Given the description of an element on the screen output the (x, y) to click on. 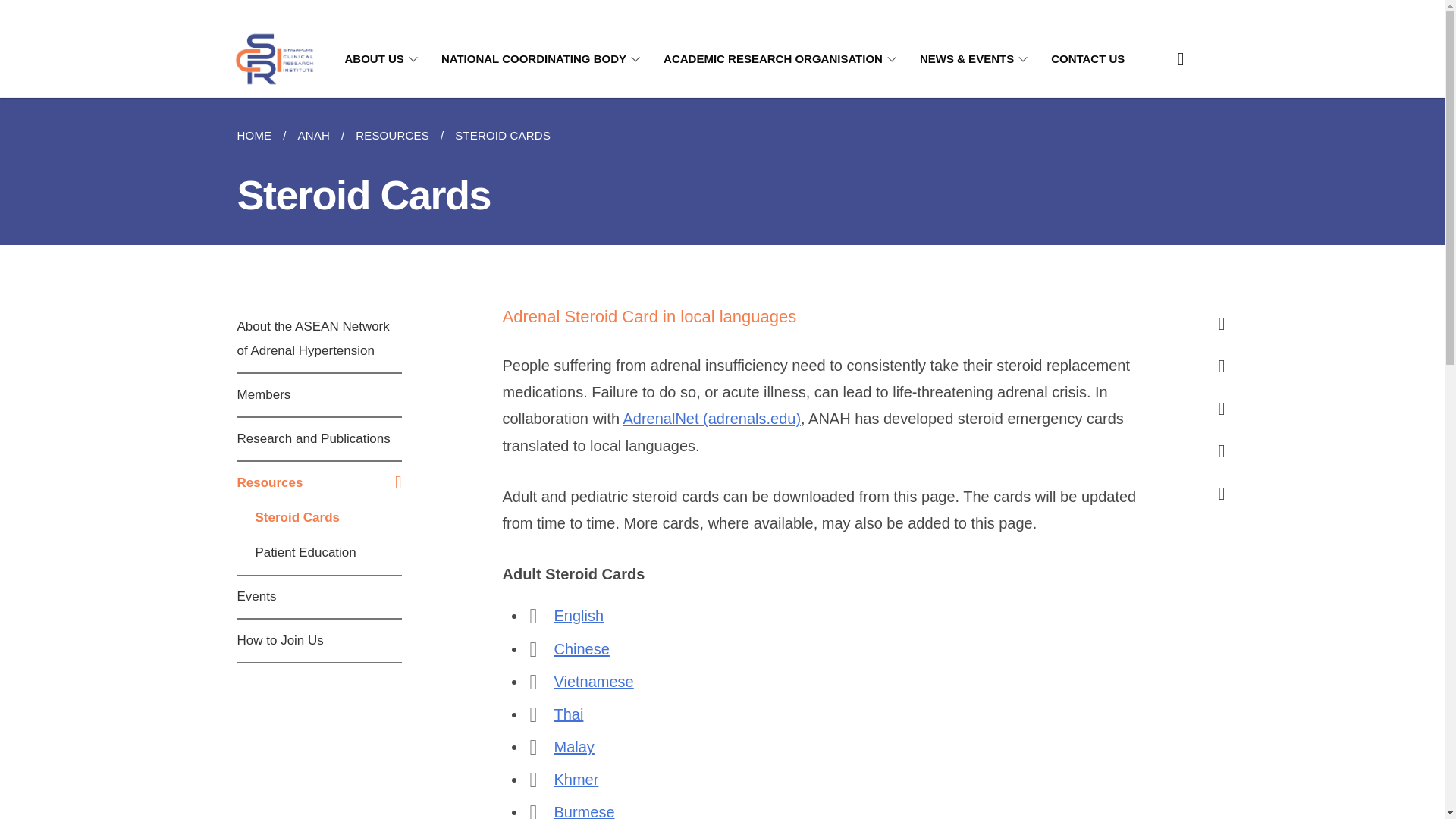
ABOUT US (384, 59)
NATIONAL COORDINATING BODY (543, 59)
RESOURCES (392, 135)
CONTACT US (1087, 59)
STEROID CARDS (503, 135)
HOME (258, 135)
ACADEMIC RESEARCH ORGANISATION (782, 59)
ANAH (312, 135)
